Given the description of an element on the screen output the (x, y) to click on. 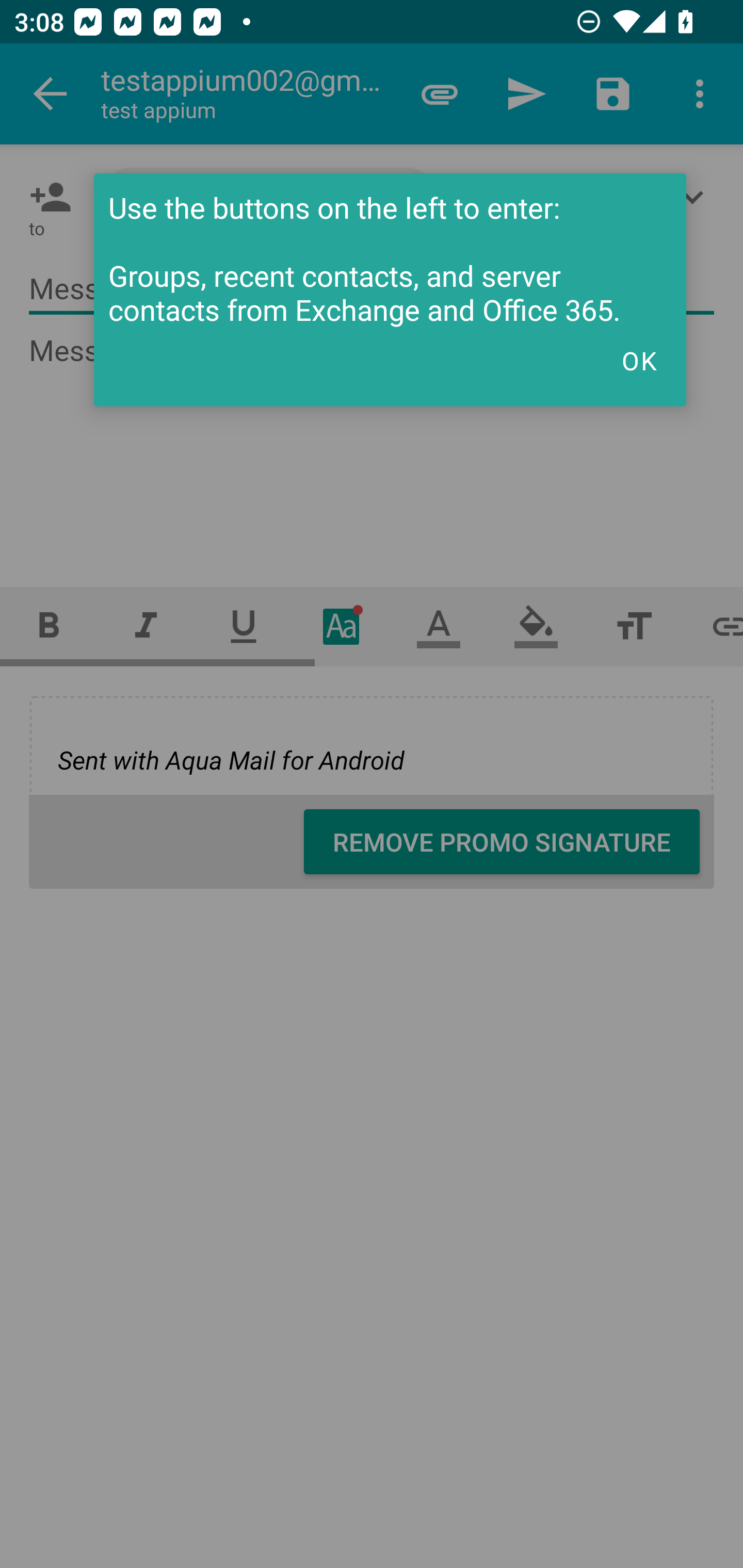
OK (638, 360)
